Given the description of an element on the screen output the (x, y) to click on. 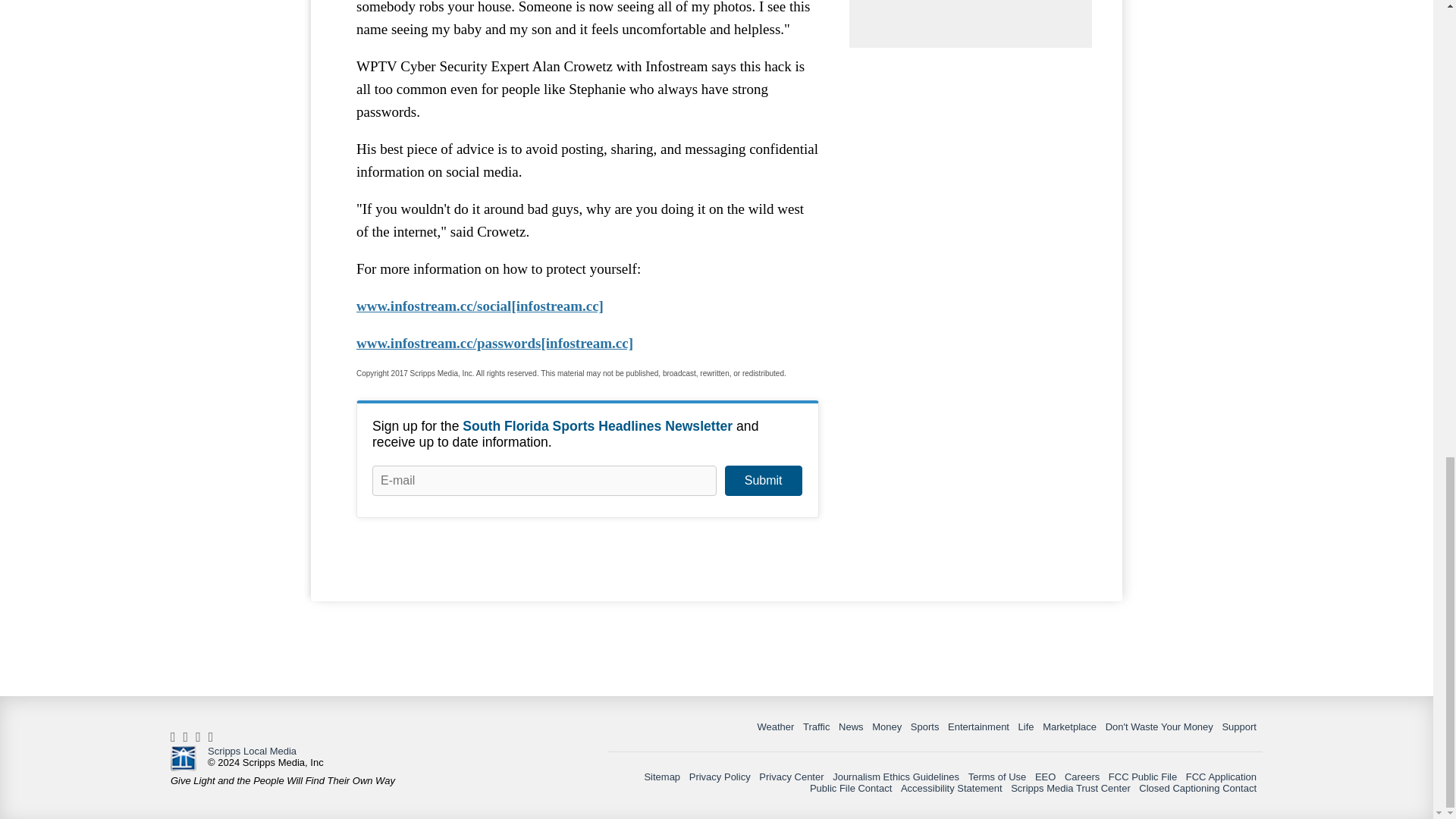
Submit (763, 481)
